Given the description of an element on the screen output the (x, y) to click on. 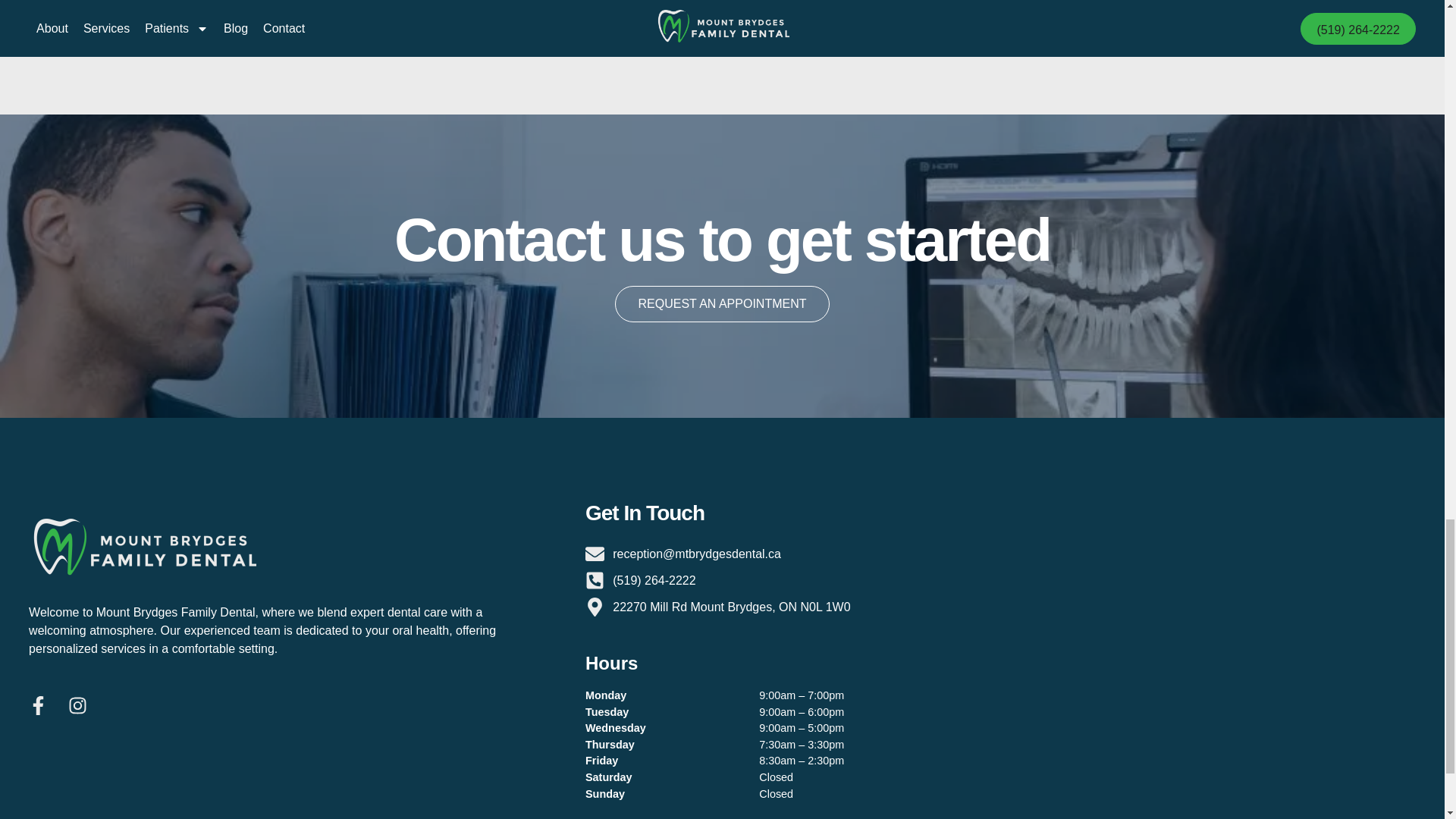
REQUEST AN APPOINTMENT (721, 303)
mount brydges family dental (1228, 632)
